Given the description of an element on the screen output the (x, y) to click on. 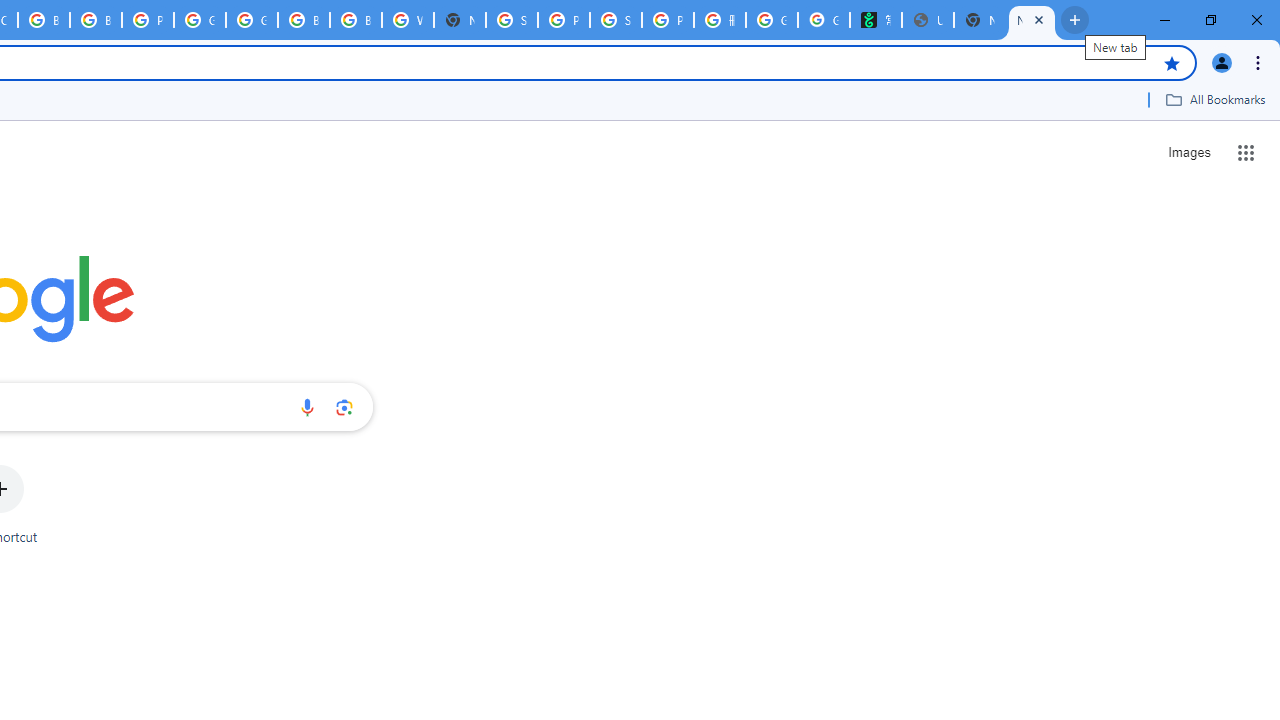
Browse Chrome as a guest - Computer - Google Chrome Help (303, 20)
Browse Chrome as a guest - Computer - Google Chrome Help (43, 20)
